Given the description of an element on the screen output the (x, y) to click on. 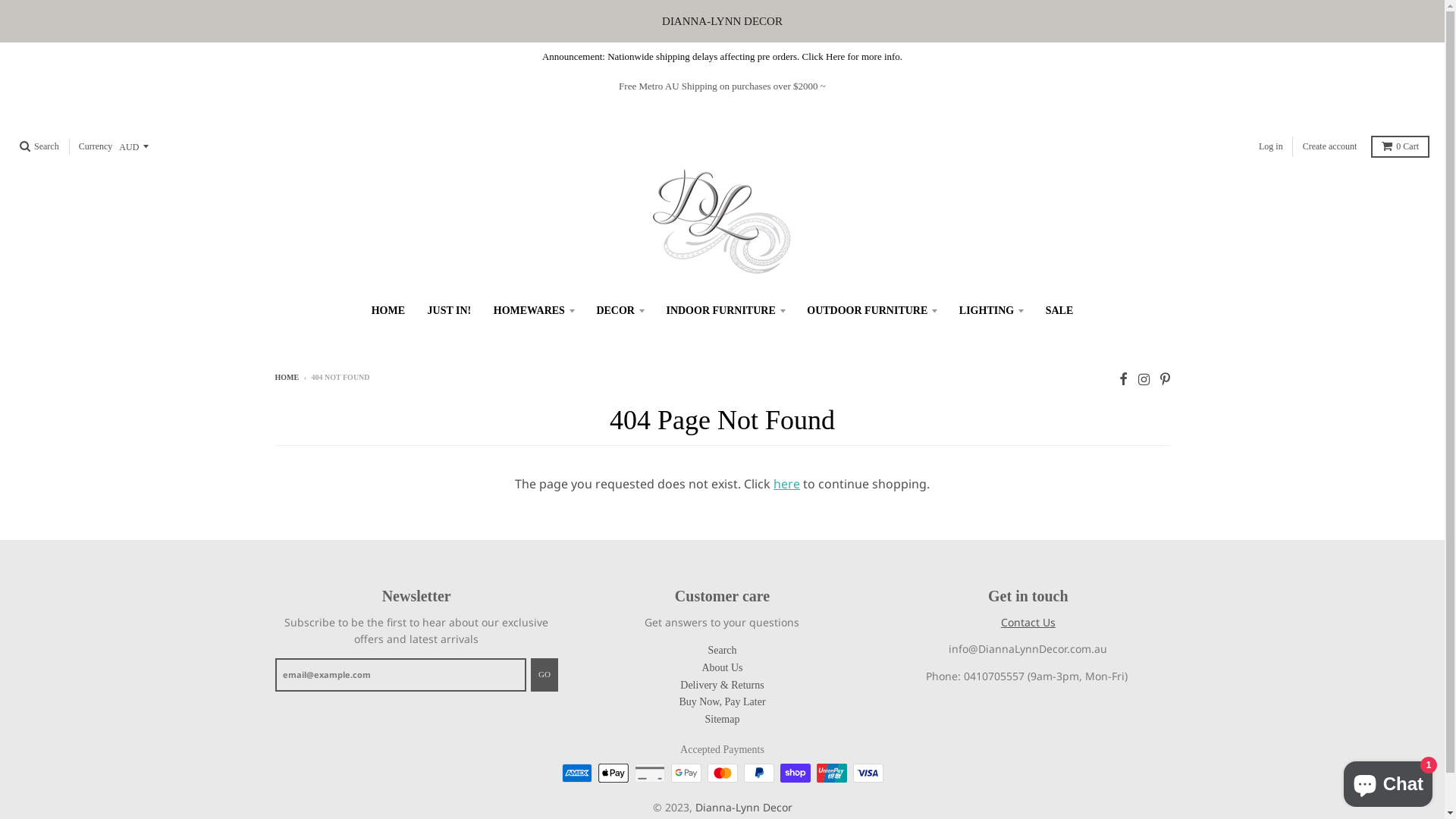
HOMEWARES Element type: text (533, 310)
JUST IN! Element type: text (449, 310)
0 Cart Element type: text (1400, 145)
Dianna-Lynn Decor on Facebook Element type: hover (1123, 378)
Contact Us Element type: text (1028, 622)
Search Element type: text (721, 649)
Dianna-Lynn Decor on Instagram Element type: hover (1142, 378)
Create account Element type: text (1329, 145)
Dianna-Lynn Decor on Pinterest Element type: hover (1165, 378)
HOME Element type: text (387, 310)
DECOR Element type: text (619, 310)
Sitemap Element type: text (722, 718)
here Element type: text (786, 483)
Buy Now, Pay Later Element type: text (721, 701)
Search Element type: text (39, 145)
Shopify online store chat Element type: hover (1388, 780)
LIGHTING Element type: text (990, 310)
Delivery & Returns Element type: text (721, 684)
SALE Element type: text (1059, 310)
Dianna-Lynn Decor Element type: text (742, 807)
About Us Element type: text (721, 667)
GO Element type: text (544, 674)
OUTDOOR FURNITURE Element type: text (871, 310)
Log in Element type: text (1270, 145)
INDOOR FURNITURE Element type: text (724, 310)
HOME Element type: text (286, 377)
